Given the description of an element on the screen output the (x, y) to click on. 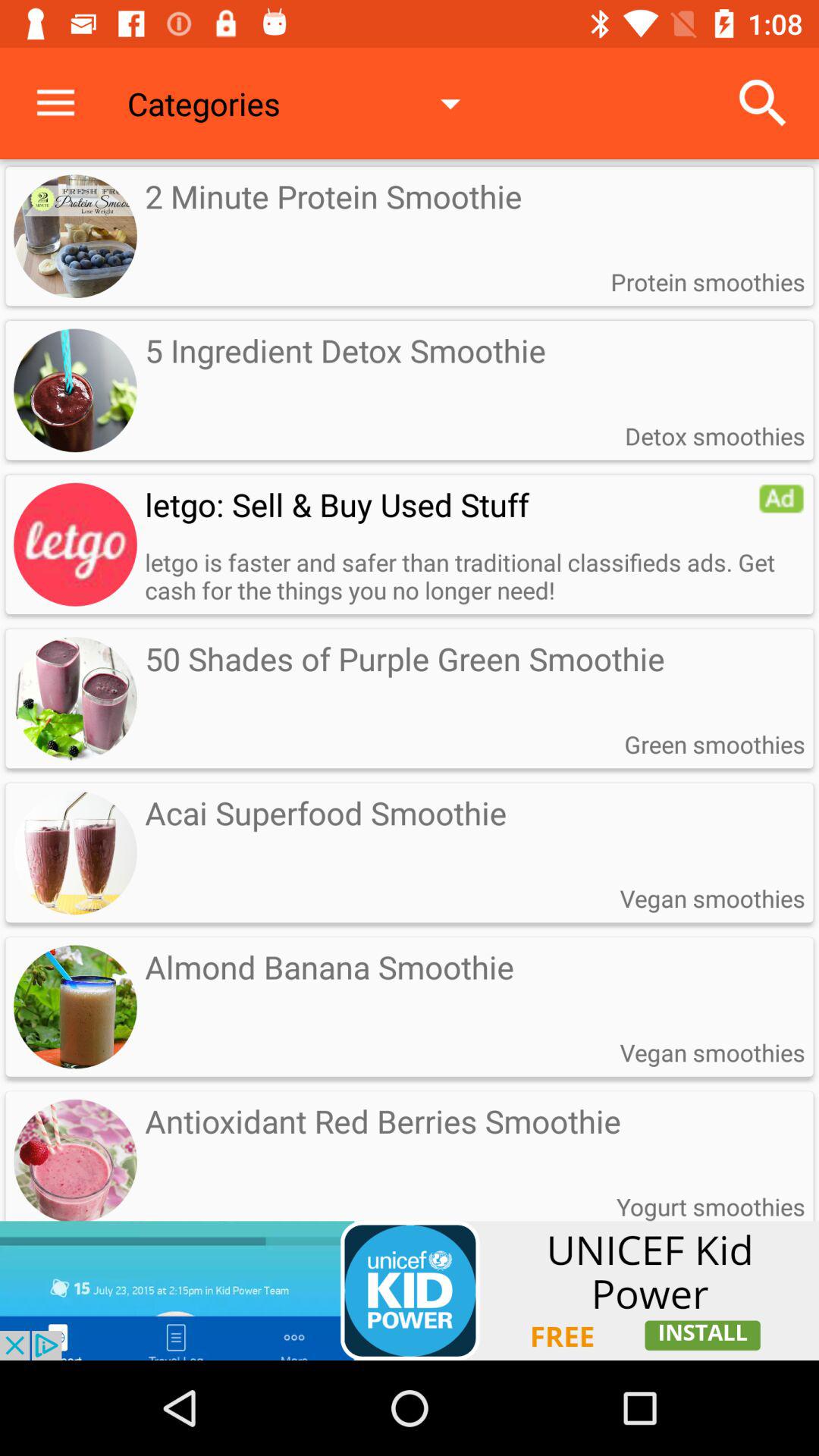
shows the advertisement tab (409, 1290)
